Given the description of an element on the screen output the (x, y) to click on. 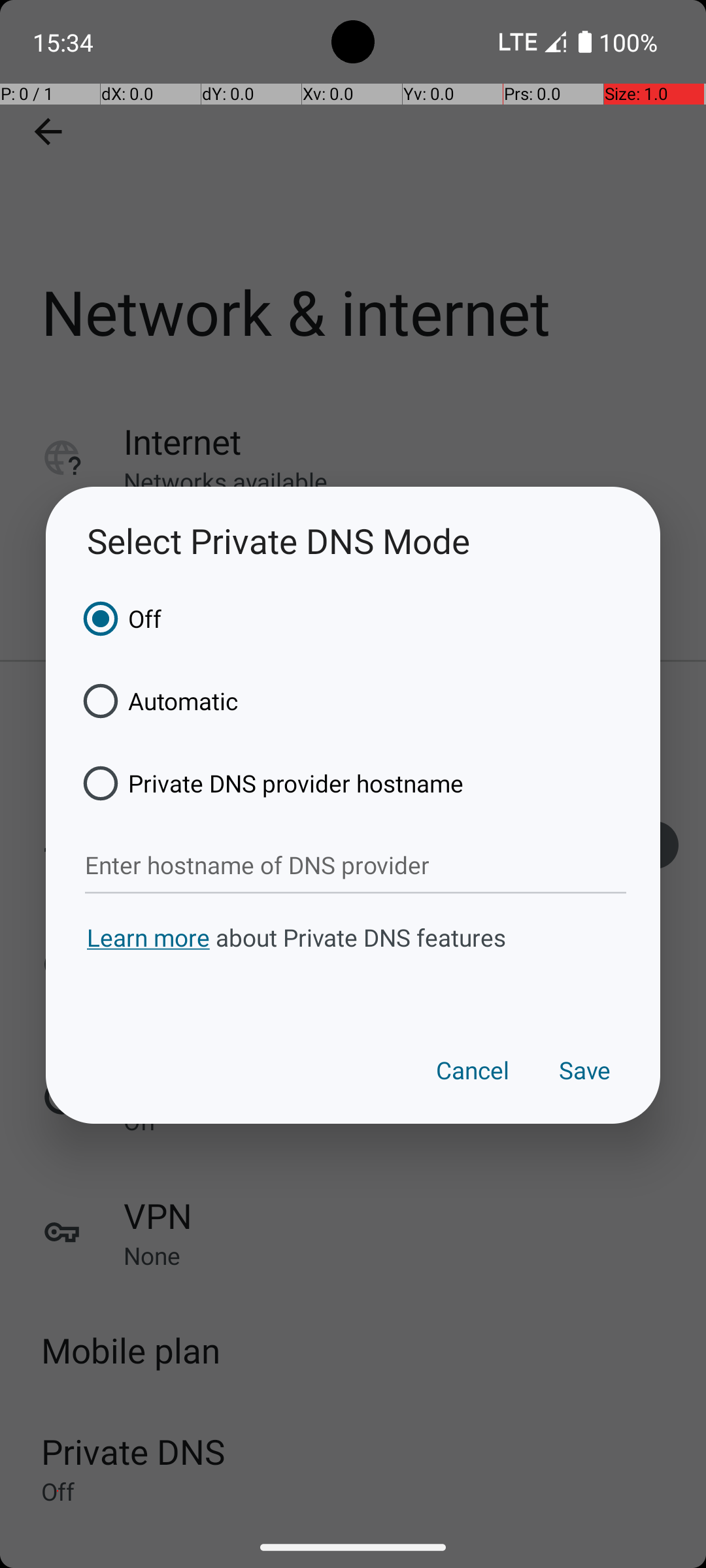
Select Private DNS Mode Element type: android.widget.TextView (352, 540)
Learn more about Private DNS features Element type: android.widget.TextView (352, 961)
Private DNS provider hostname Element type: android.widget.RadioButton (268, 783)
Enter hostname of DNS provider Element type: android.widget.EditText (355, 865)
